Given the description of an element on the screen output the (x, y) to click on. 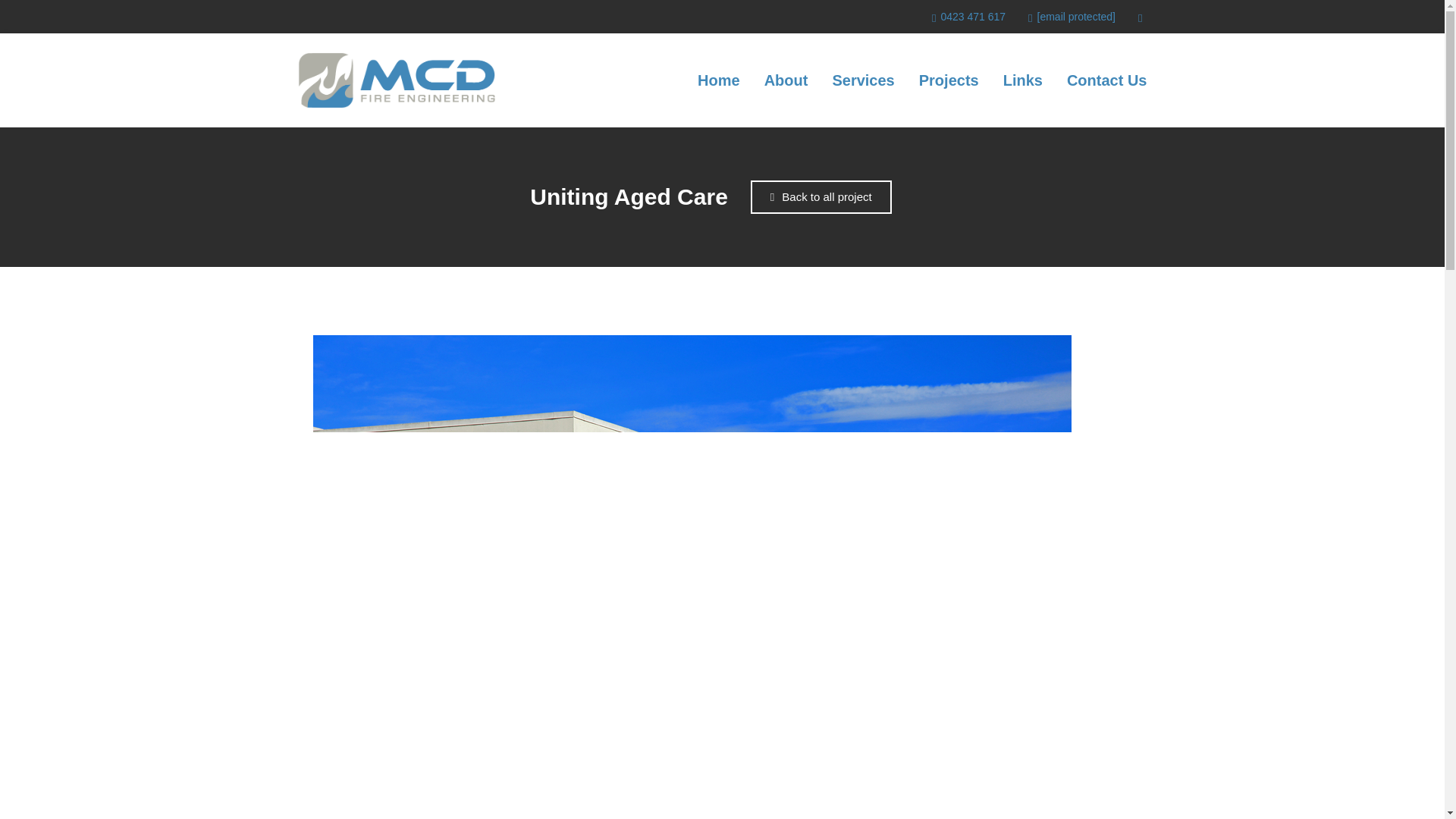
0423 471 617 (968, 16)
Home (718, 80)
Contact Us (1107, 80)
Links (1022, 80)
Services (862, 80)
Projects (948, 80)
About (786, 80)
